Given the description of an element on the screen output the (x, y) to click on. 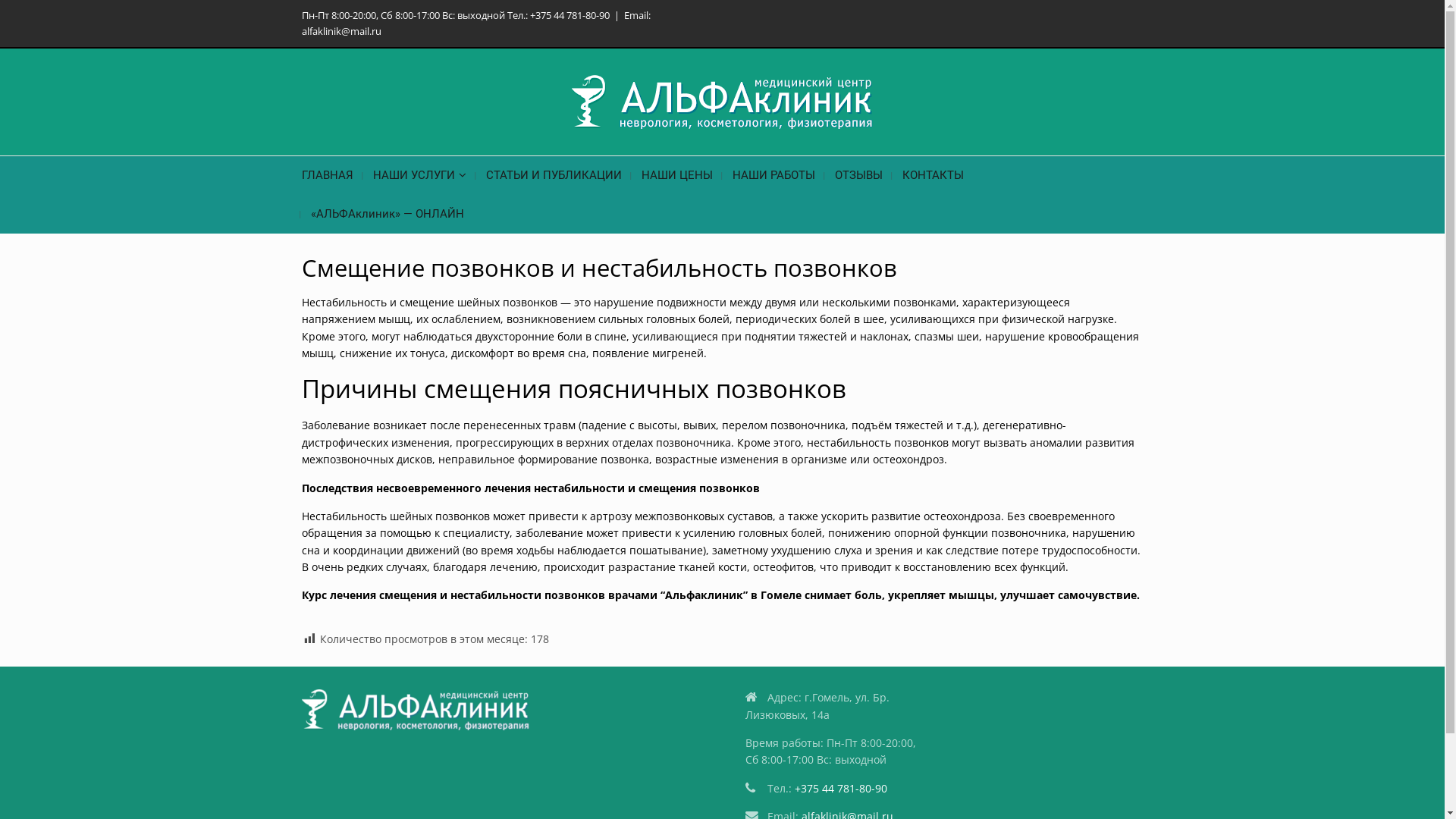
+375 44 781-80-90 Element type: text (840, 788)
